Given the description of an element on the screen output the (x, y) to click on. 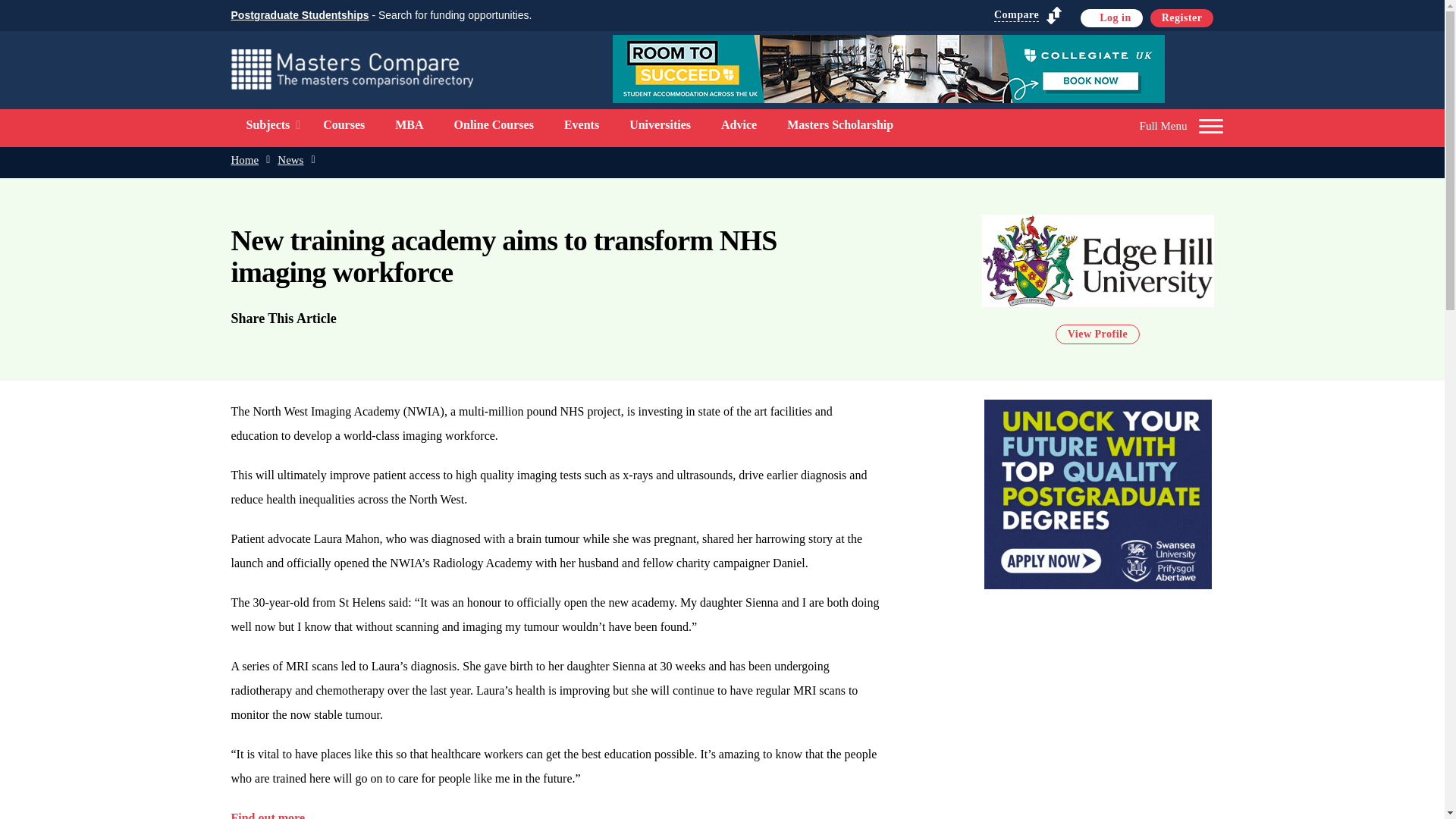
Subjects (267, 124)
Postgraduate Studentships (299, 15)
Register (1182, 18)
Log in (1111, 18)
Compare (1027, 15)
